Given the description of an element on the screen output the (x, y) to click on. 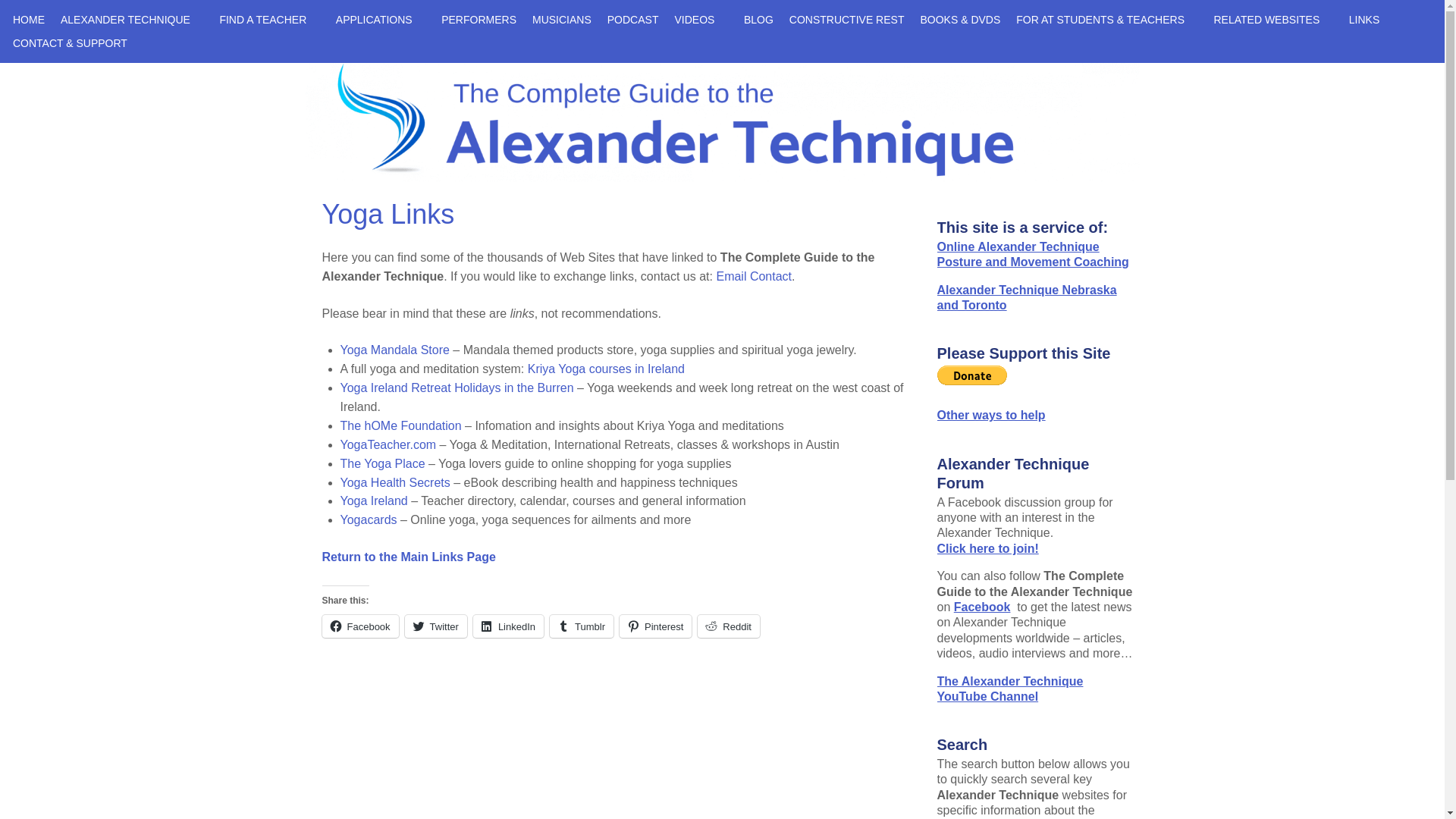
Click to share on Reddit (728, 626)
PERFORMERS (478, 19)
MUSICIANS (561, 19)
HOME (28, 19)
Click to share on Pinterest (655, 626)
PODCAST (632, 19)
BLOG (757, 19)
ALEXANDER TECHNIQUE (131, 19)
Click to share on Facebook (359, 626)
Click to share on Tumblr (581, 626)
Click to share on LinkedIn (508, 626)
FIND A TEACHER (269, 19)
APPLICATIONS (379, 19)
Click to share on Twitter (435, 626)
CONSTRUCTIVE REST (846, 19)
